Given the description of an element on the screen output the (x, y) to click on. 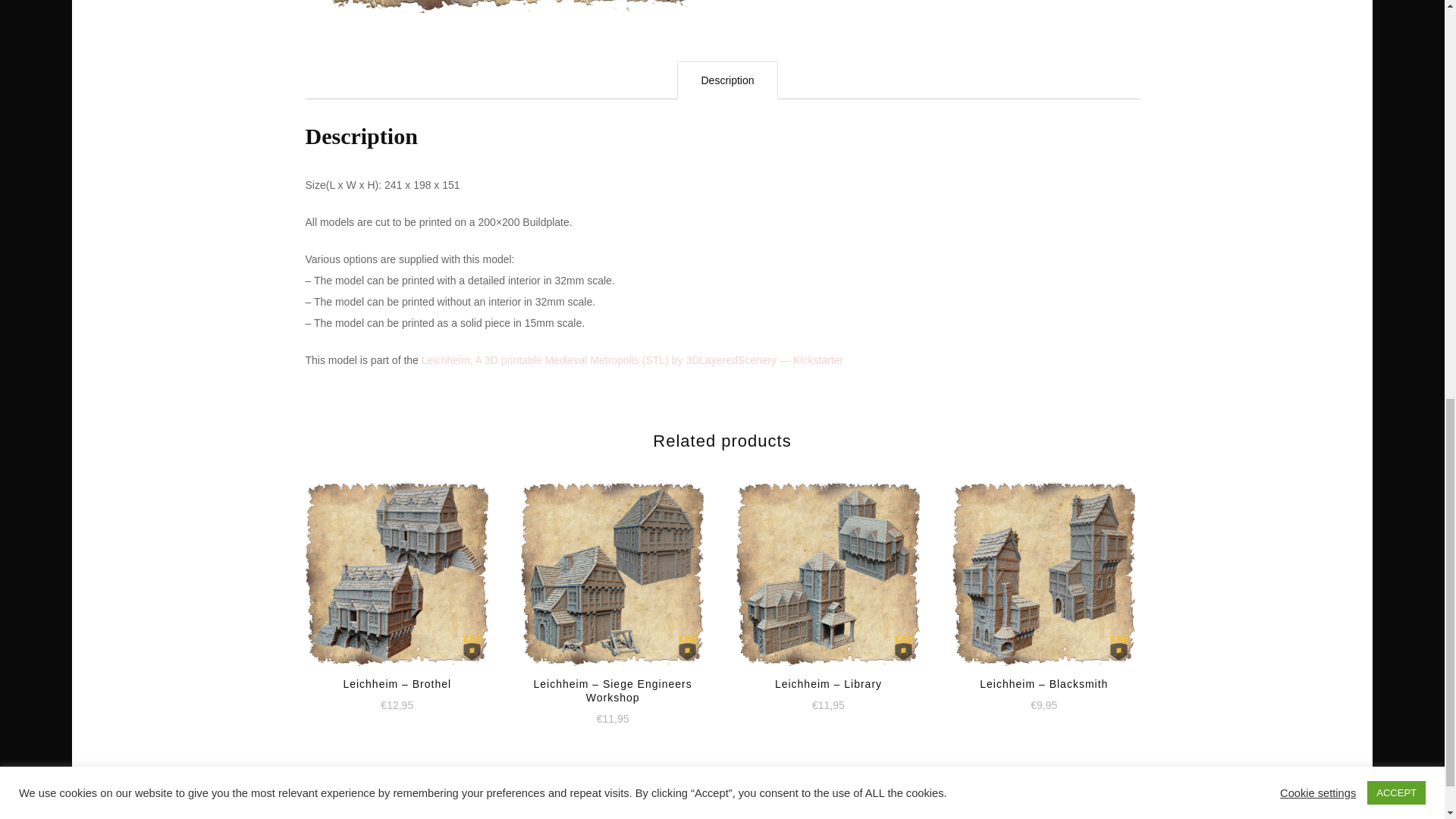
Bathhouse (504, 6)
